Given the description of an element on the screen output the (x, y) to click on. 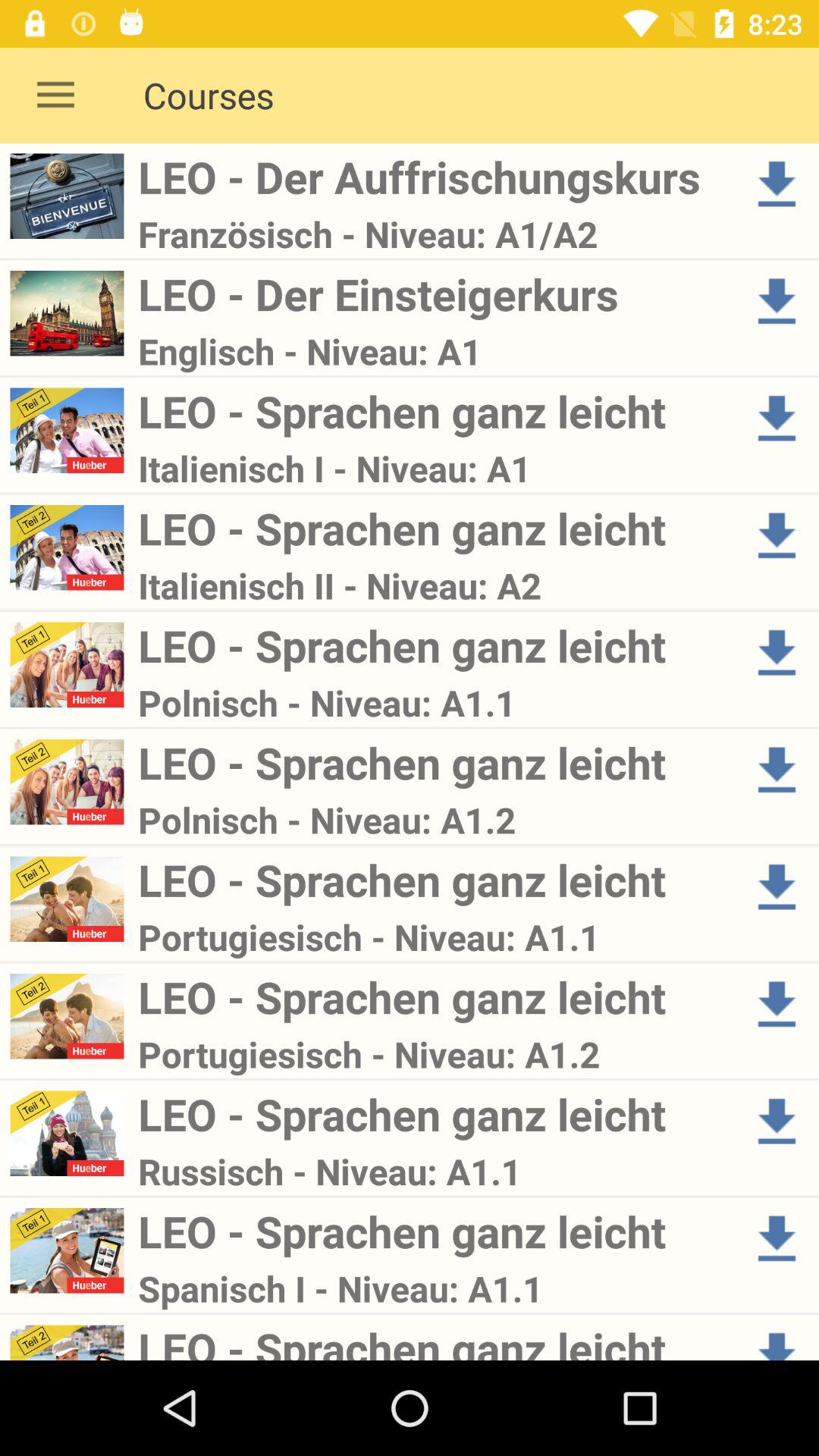
launch icon next to the leo - der auffrischungskurs (55, 95)
